Given the description of an element on the screen output the (x, y) to click on. 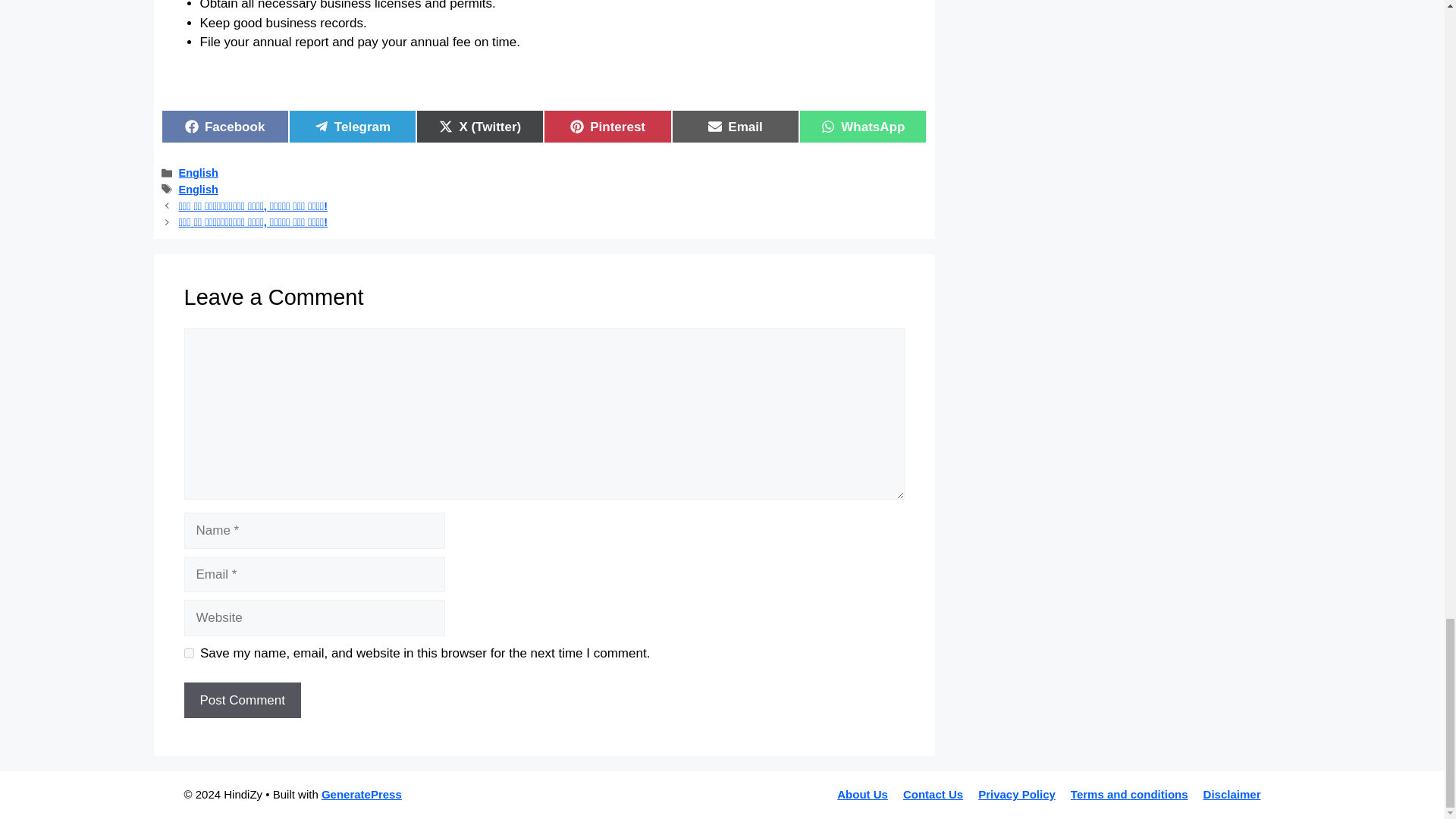
English (198, 189)
Post Comment (241, 700)
Post Comment (224, 126)
English (607, 126)
Privacy Policy (352, 126)
About Us (241, 700)
yes (198, 173)
Disclaimer (1016, 793)
Contact Us (862, 793)
GeneratePress (188, 653)
Terms and conditions (1232, 793)
